Given the description of an element on the screen output the (x, y) to click on. 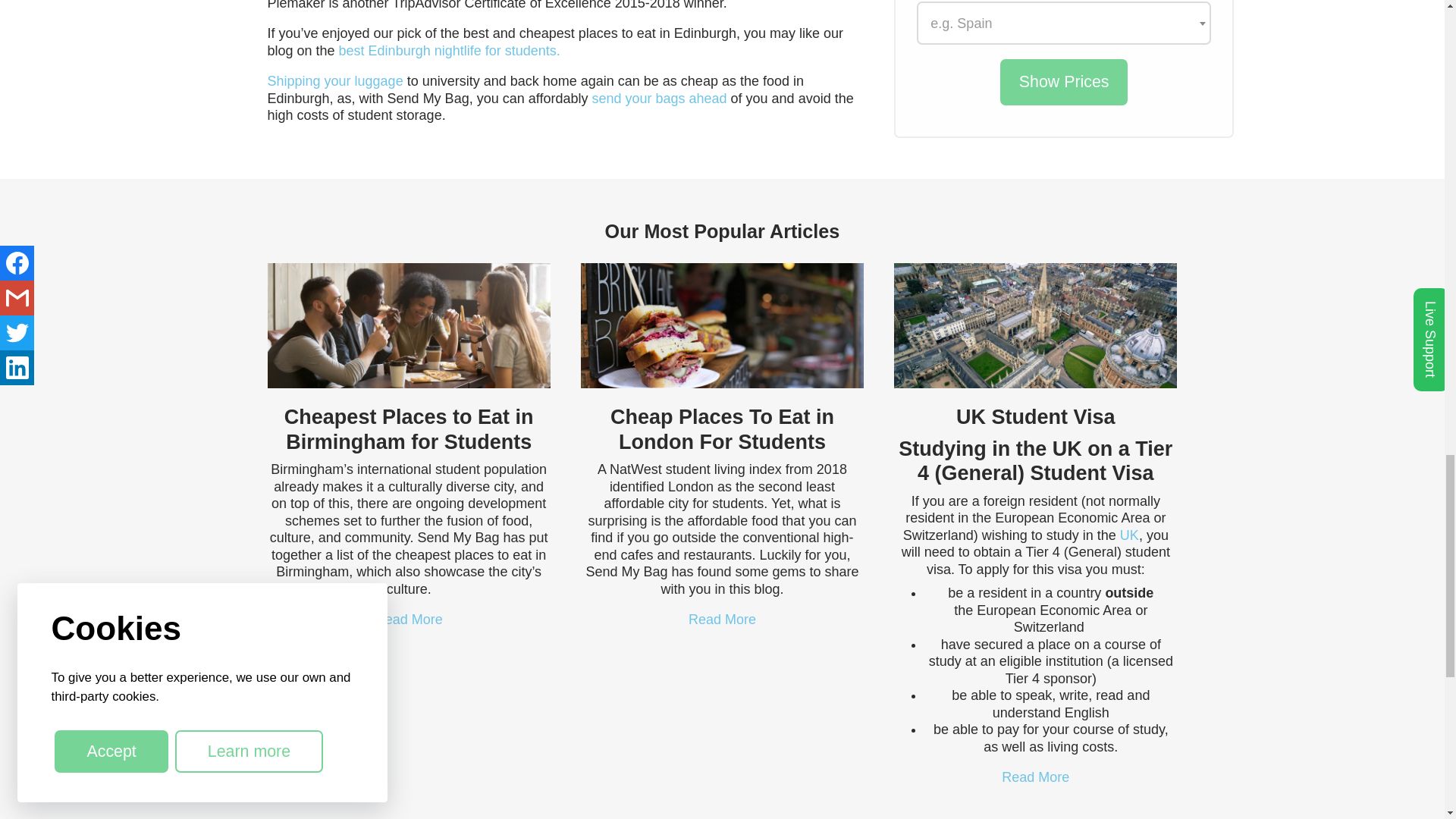
Read More (408, 619)
Read More (1034, 776)
UK (1128, 534)
Read More (721, 619)
Shipping your luggage (334, 80)
best Edinburgh nightlife for students. (449, 50)
send your bags ahead (658, 98)
